Given the description of an element on the screen output the (x, y) to click on. 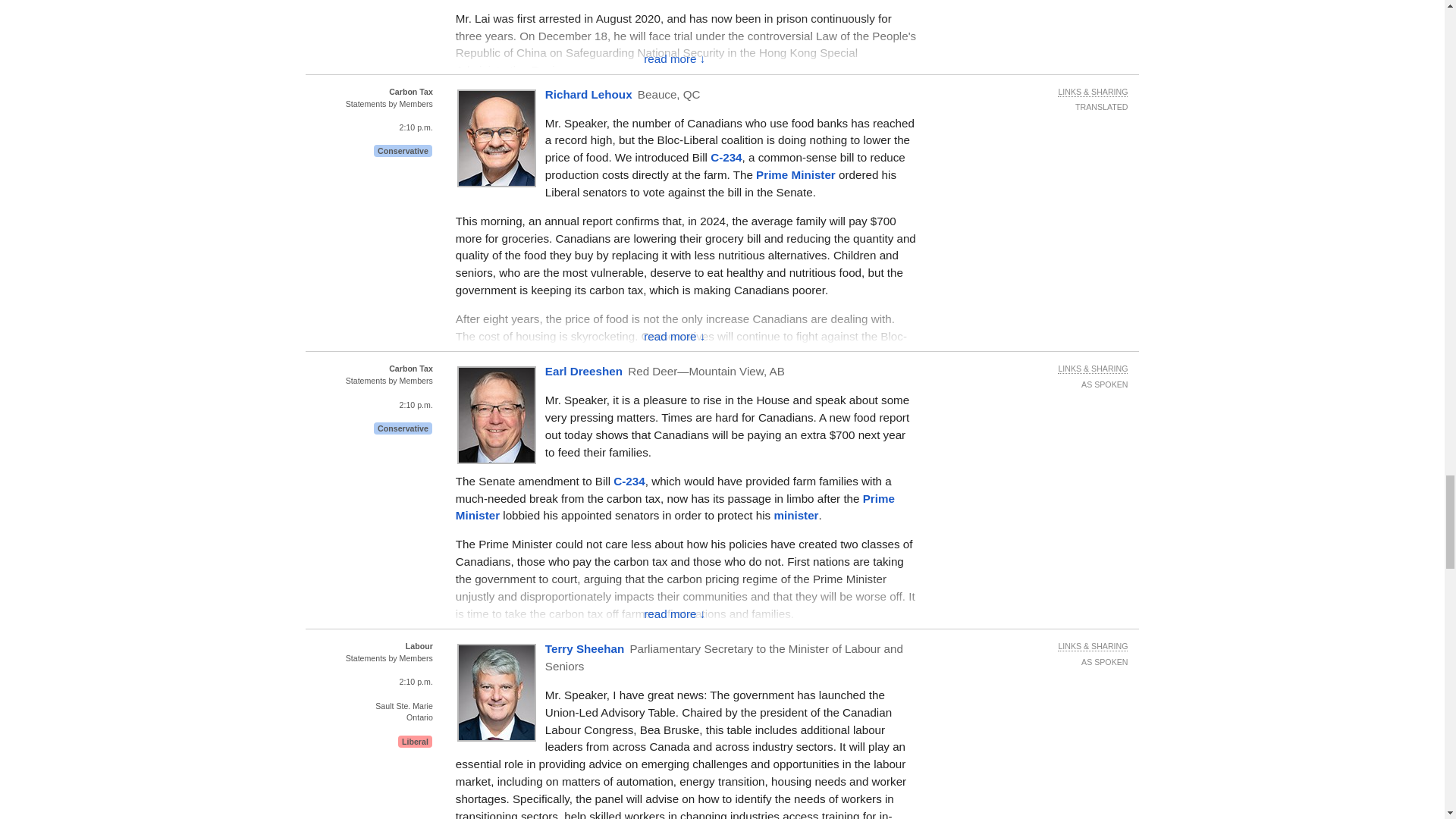
An Act to amend the Greenhouse Gas Pollution Pricing Act (725, 156)
Justin Trudeau (675, 507)
An Act to amend the Greenhouse Gas Pollution Pricing Act (628, 481)
Steven Guilbeault (795, 514)
Justin Trudeau (795, 174)
